Given the description of an element on the screen output the (x, y) to click on. 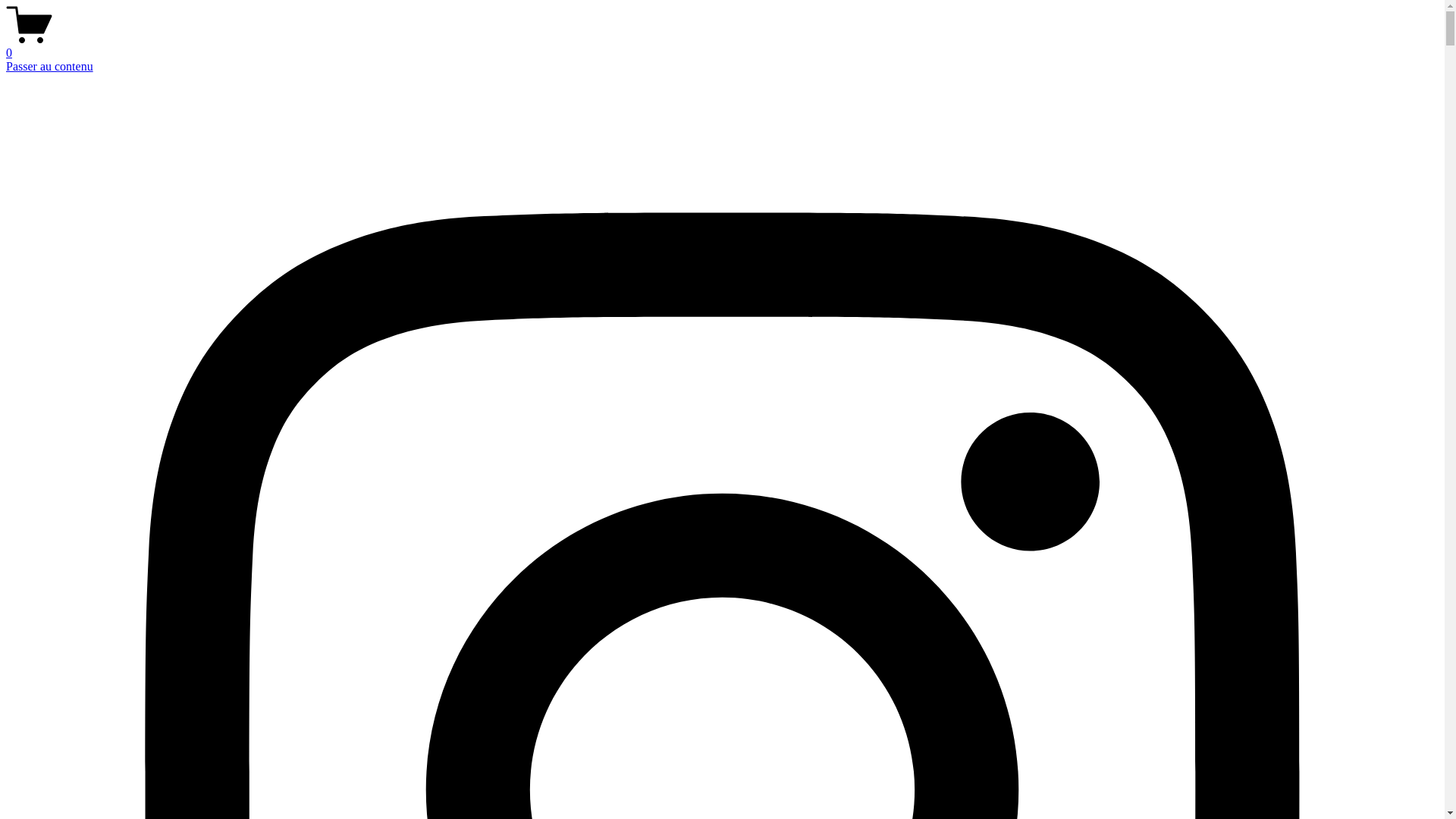
Passer au contenu Element type: text (49, 65)
0 Element type: text (722, 45)
